Given the description of an element on the screen output the (x, y) to click on. 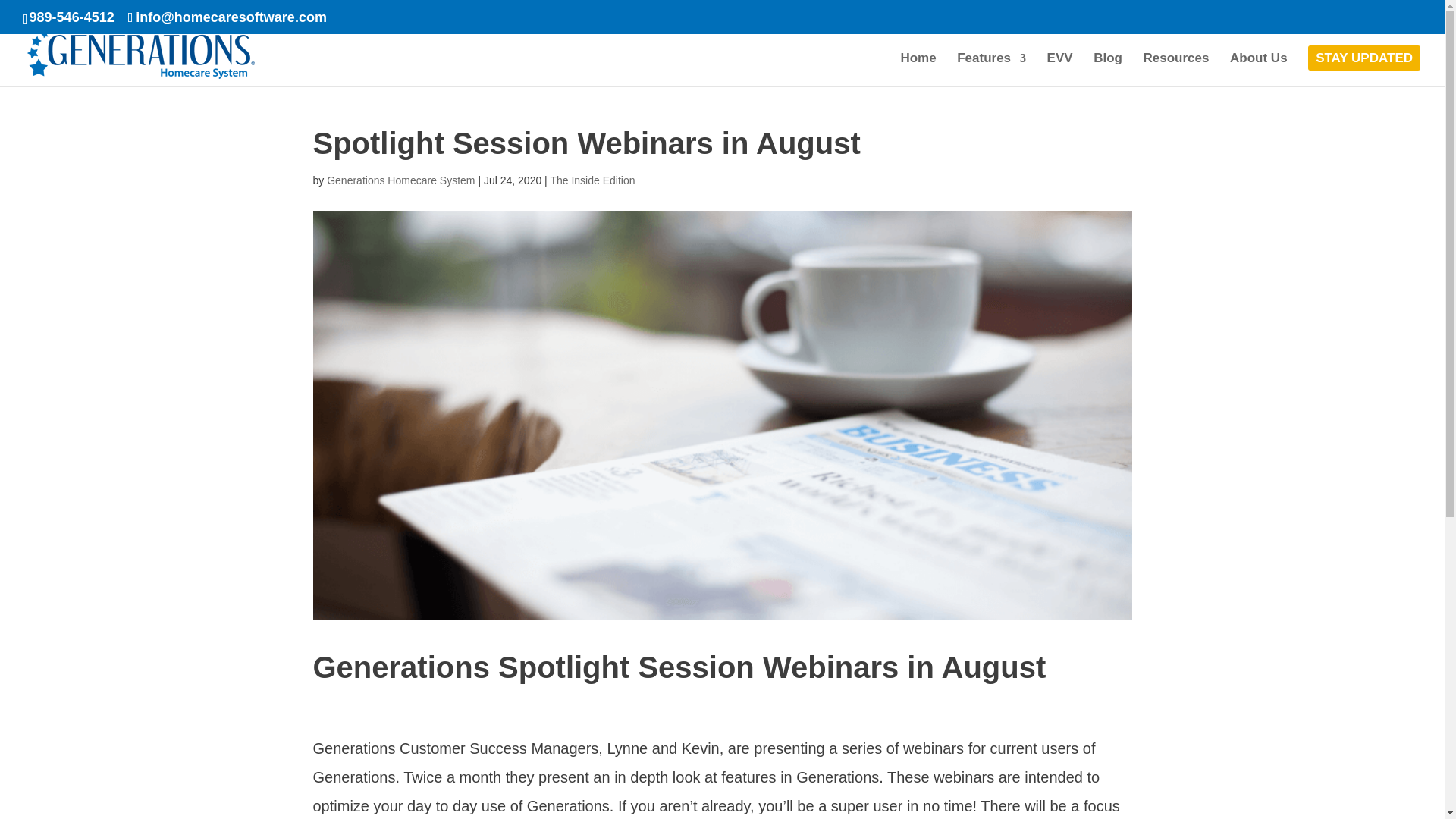
STAY UPDATED (1364, 69)
The Inside Edition (592, 180)
Posts by Generations Homecare System (400, 180)
About Us (1258, 69)
Resources (1175, 69)
Generations Homecare System (400, 180)
Features (991, 69)
Home (917, 69)
